Given the description of an element on the screen output the (x, y) to click on. 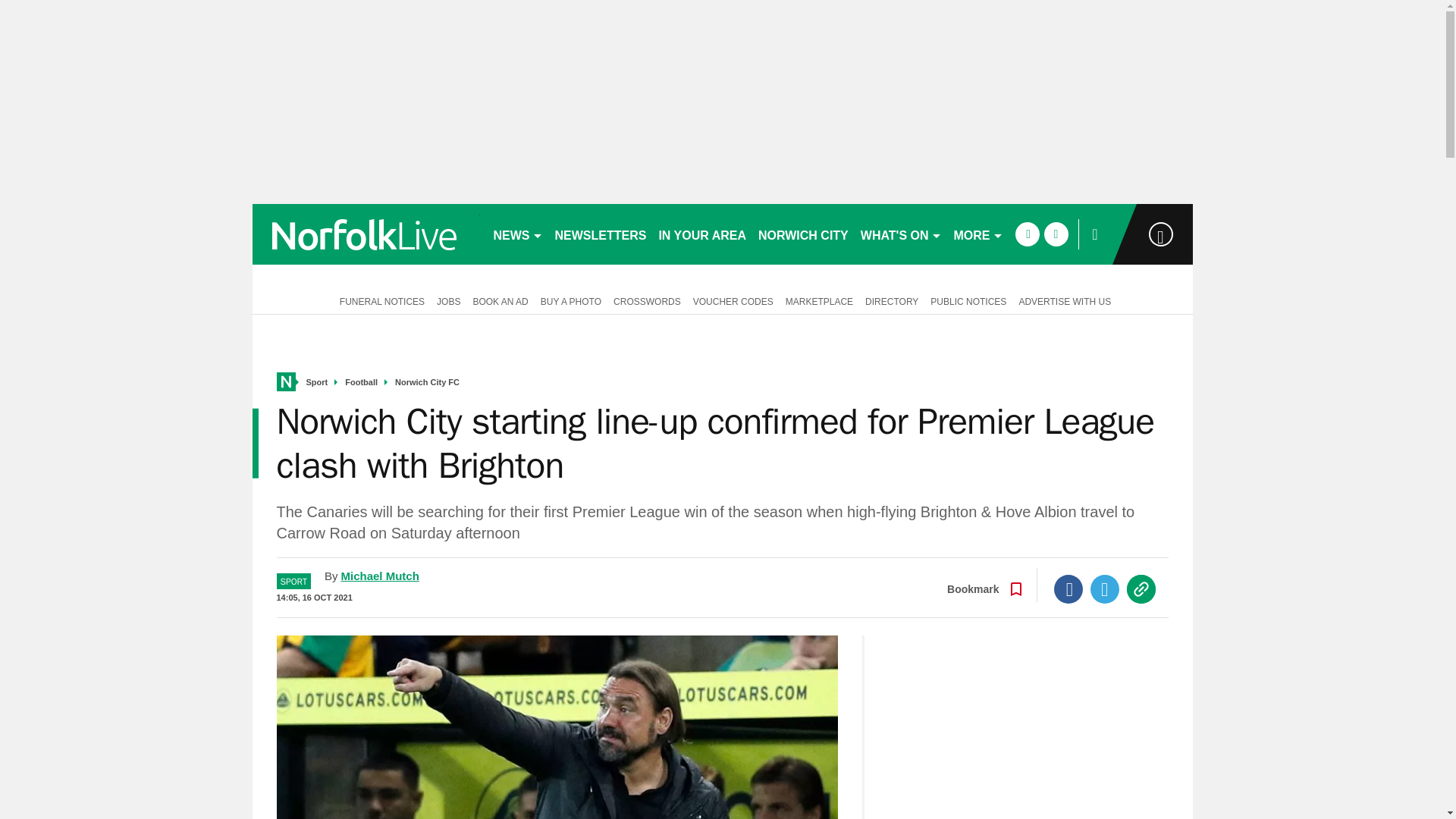
NORWICH CITY (803, 233)
Home (285, 381)
Twitter (1104, 588)
VOUCHER CODES (732, 300)
twitter (1055, 233)
Facebook (1068, 588)
CROSSWORDS (647, 300)
NEWSLETTERS (600, 233)
facebook (1026, 233)
MORE (978, 233)
FUNERAL NOTICES (378, 300)
WHAT'S ON (900, 233)
PUBLIC NOTICES (967, 300)
DIRECTORY (891, 300)
norfolklive (365, 233)
